Given the description of an element on the screen output the (x, y) to click on. 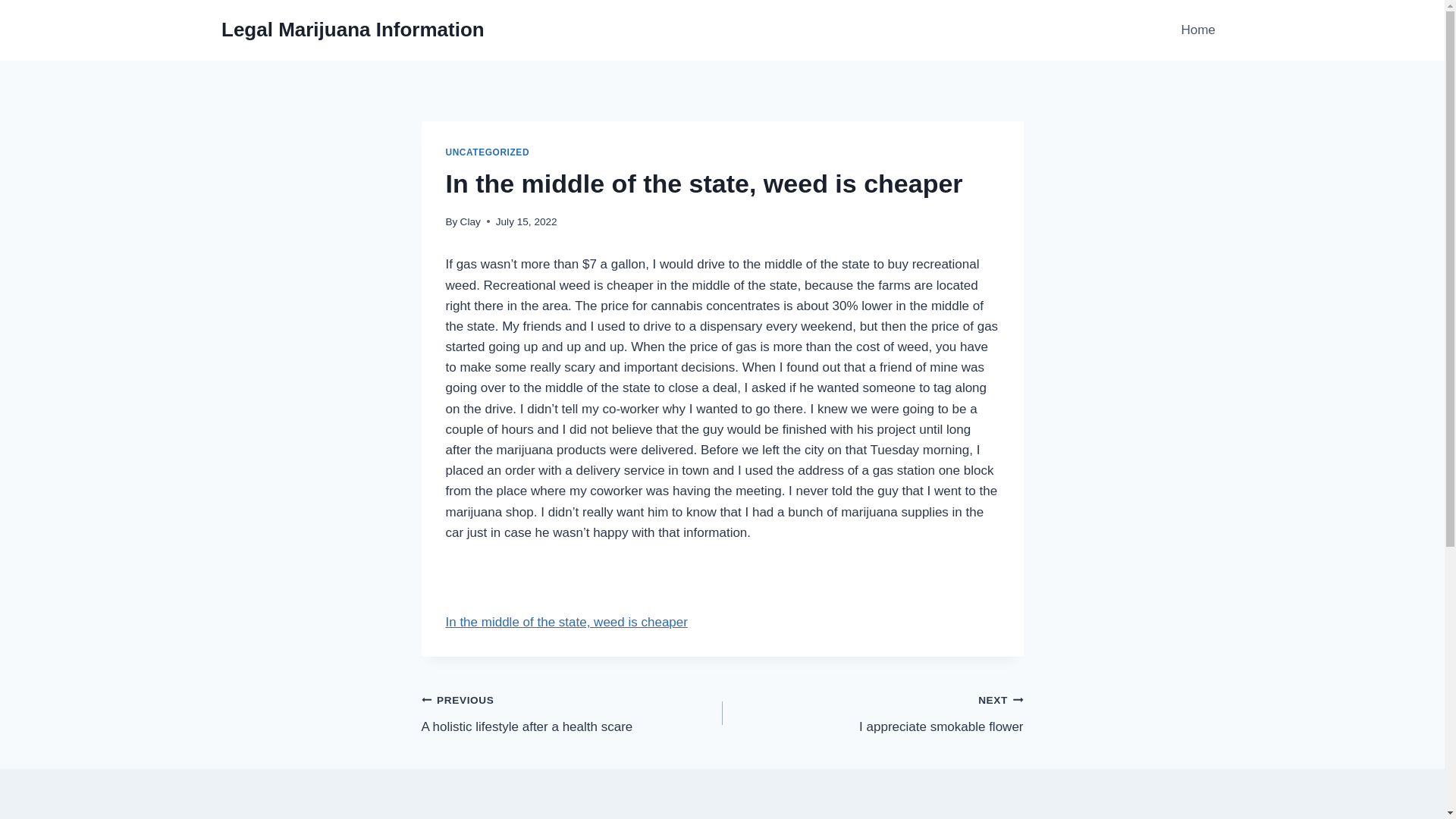
Legal Marijuana Information (352, 29)
Clay (470, 221)
In the middle of the state, weed is cheaper (566, 622)
UNCATEGORIZED (872, 713)
Home (572, 713)
